Given the description of an element on the screen output the (x, y) to click on. 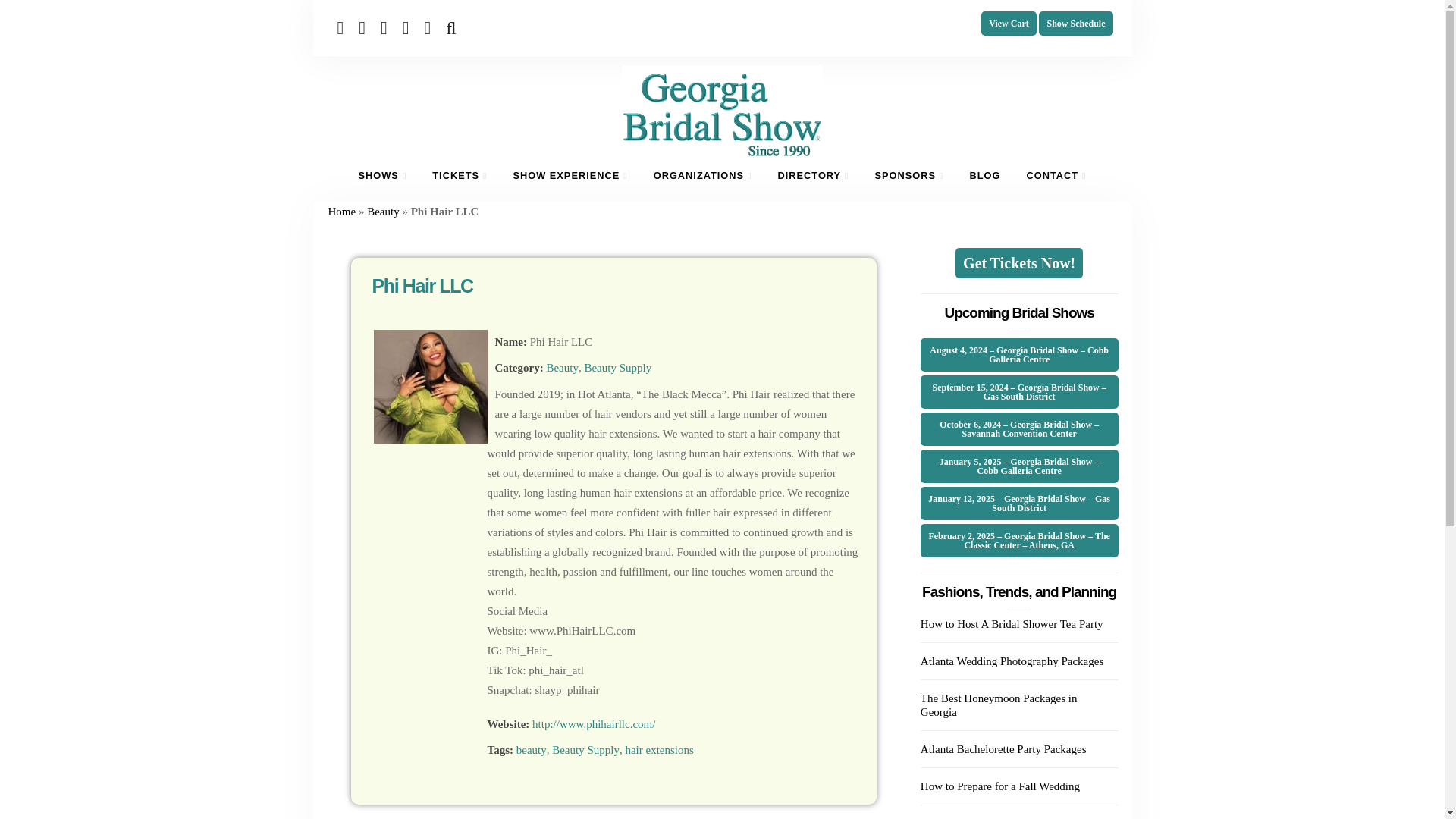
Instagram (430, 27)
Twitter (364, 27)
Facebook (342, 27)
Pinterest (408, 27)
Youtube (386, 27)
